Given the description of an element on the screen output the (x, y) to click on. 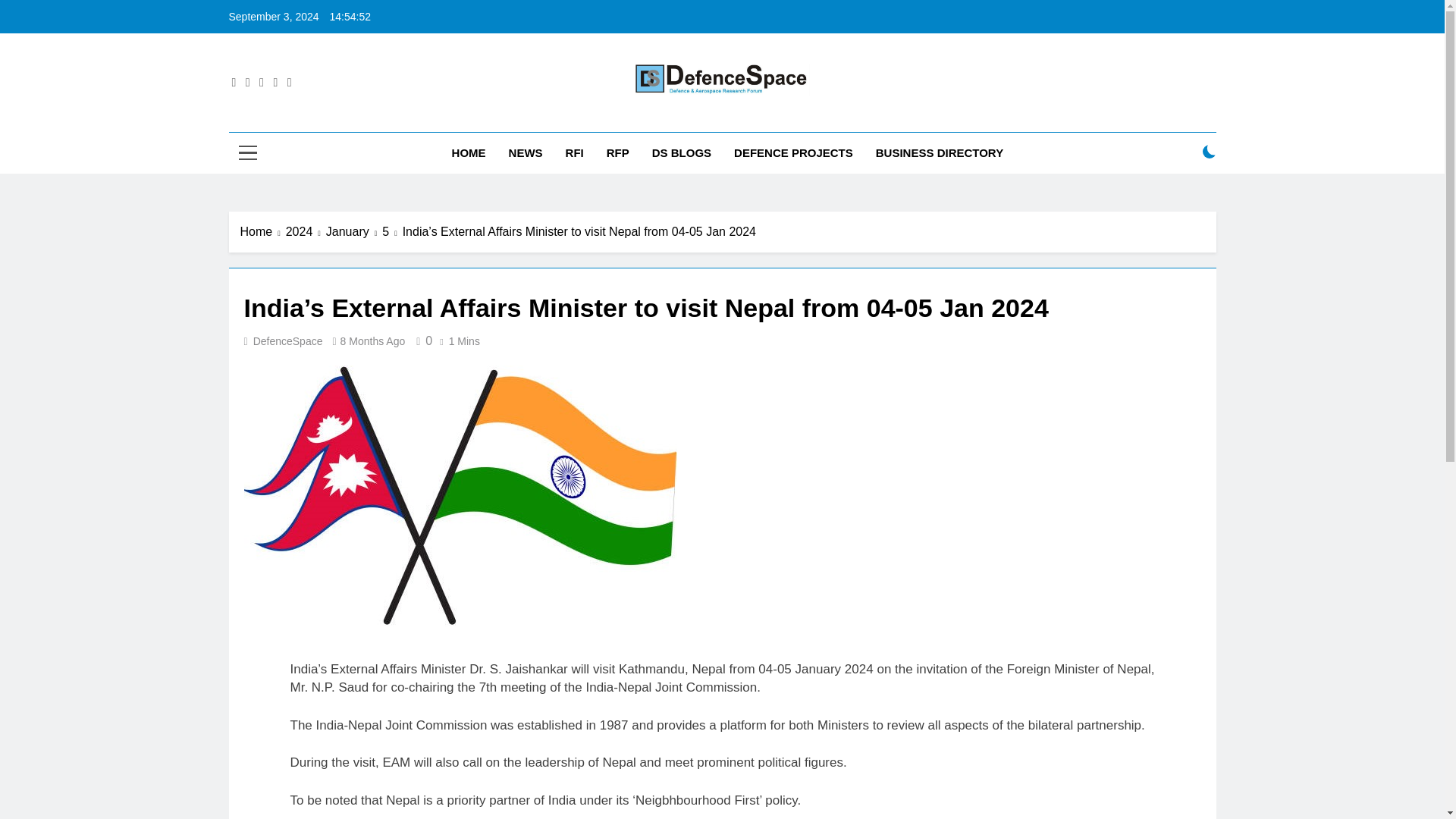
HOME (469, 152)
2024 (305, 231)
DS BLOGS (681, 152)
DEFENCE PROJECTS (793, 152)
RFP (617, 152)
NEWS (525, 152)
5 (391, 231)
RFI (574, 152)
Home (262, 231)
DefenceSpace (288, 340)
